Given the description of an element on the screen output the (x, y) to click on. 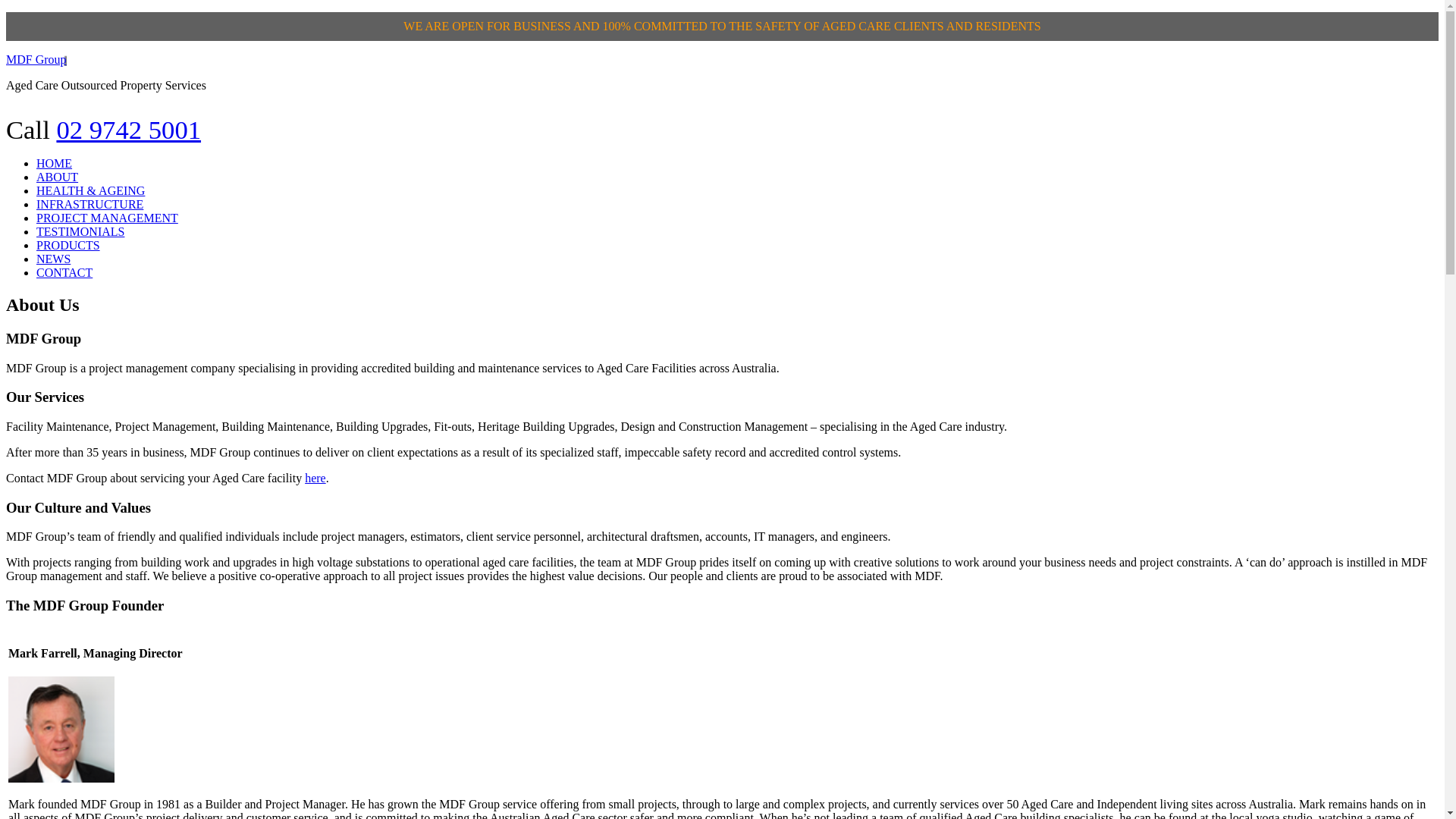
MDF Group Element type: text (36, 59)
PRODUCTS Element type: text (68, 244)
HEALTH & AGEING Element type: text (90, 190)
TESTIMONIALS Element type: text (80, 231)
INFRASTRUCTURE Element type: text (89, 203)
NEWS Element type: text (53, 258)
ABOUT Element type: text (57, 176)
CONTACT Element type: text (64, 272)
PROJECT MANAGEMENT Element type: text (107, 217)
HOME Element type: text (54, 162)
here Element type: text (315, 477)
02 9742 5001 Element type: text (128, 129)
